Given the description of an element on the screen output the (x, y) to click on. 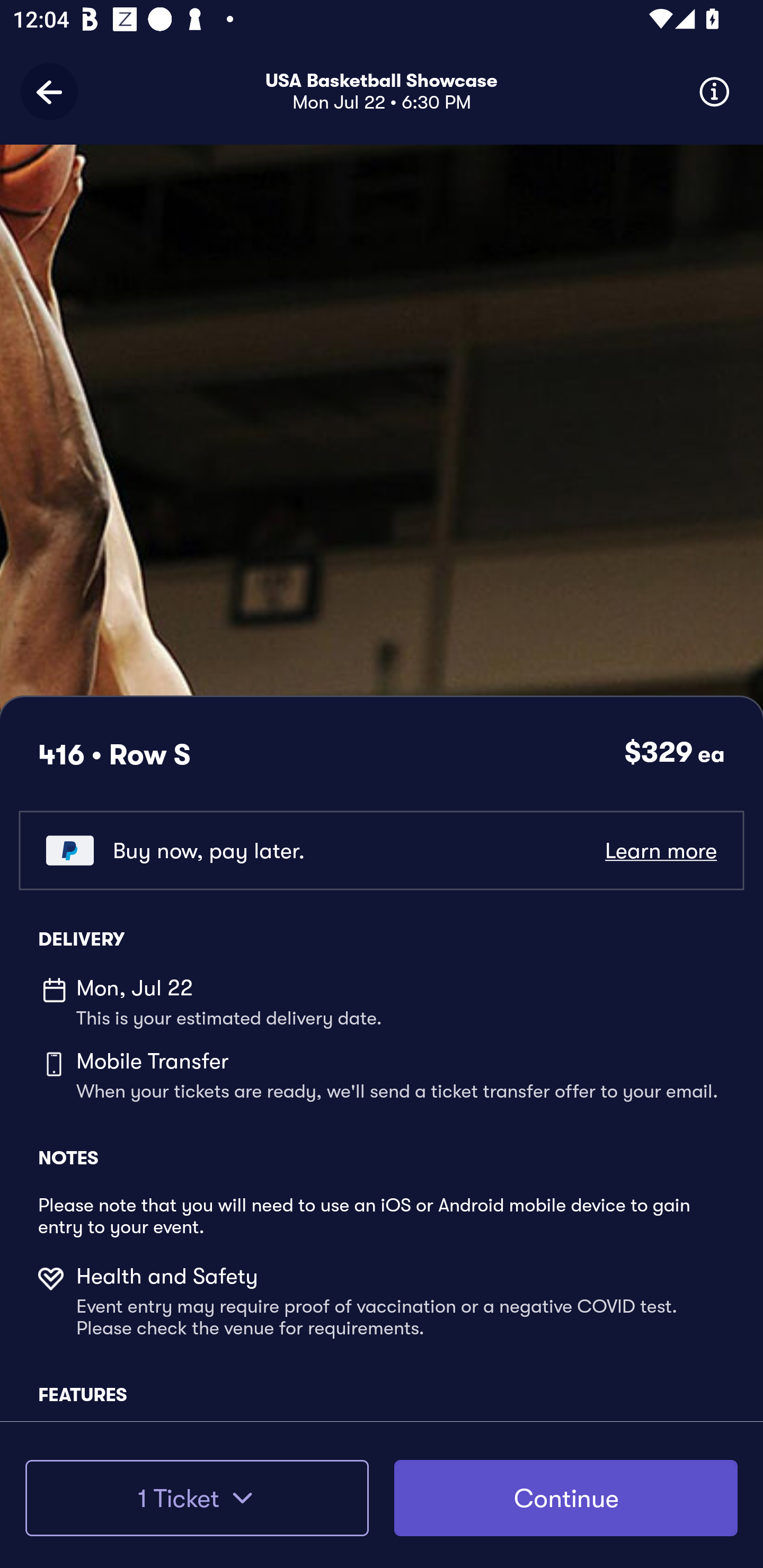
Learn more (660, 850)
1 Ticket (196, 1497)
Continue (565, 1497)
